Given the description of an element on the screen output the (x, y) to click on. 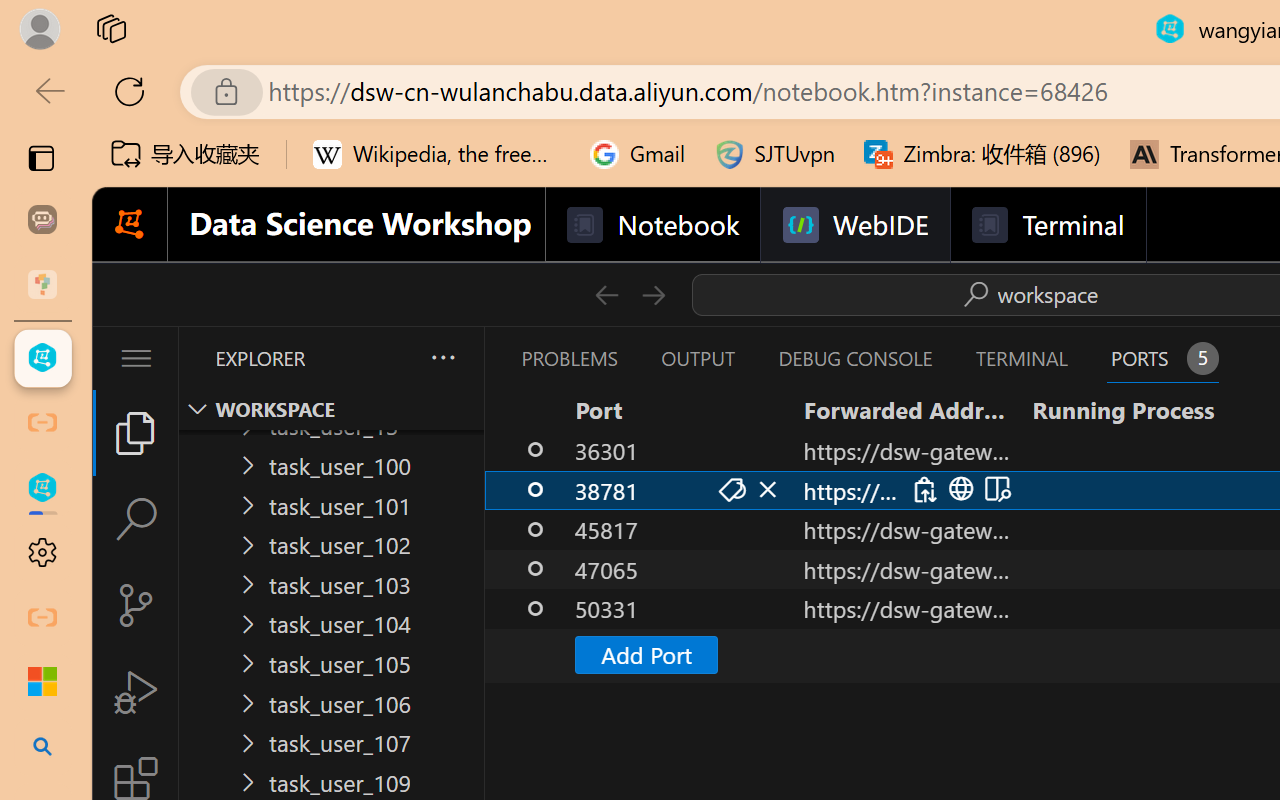
Explorer actions (390, 358)
